Given the description of an element on the screen output the (x, y) to click on. 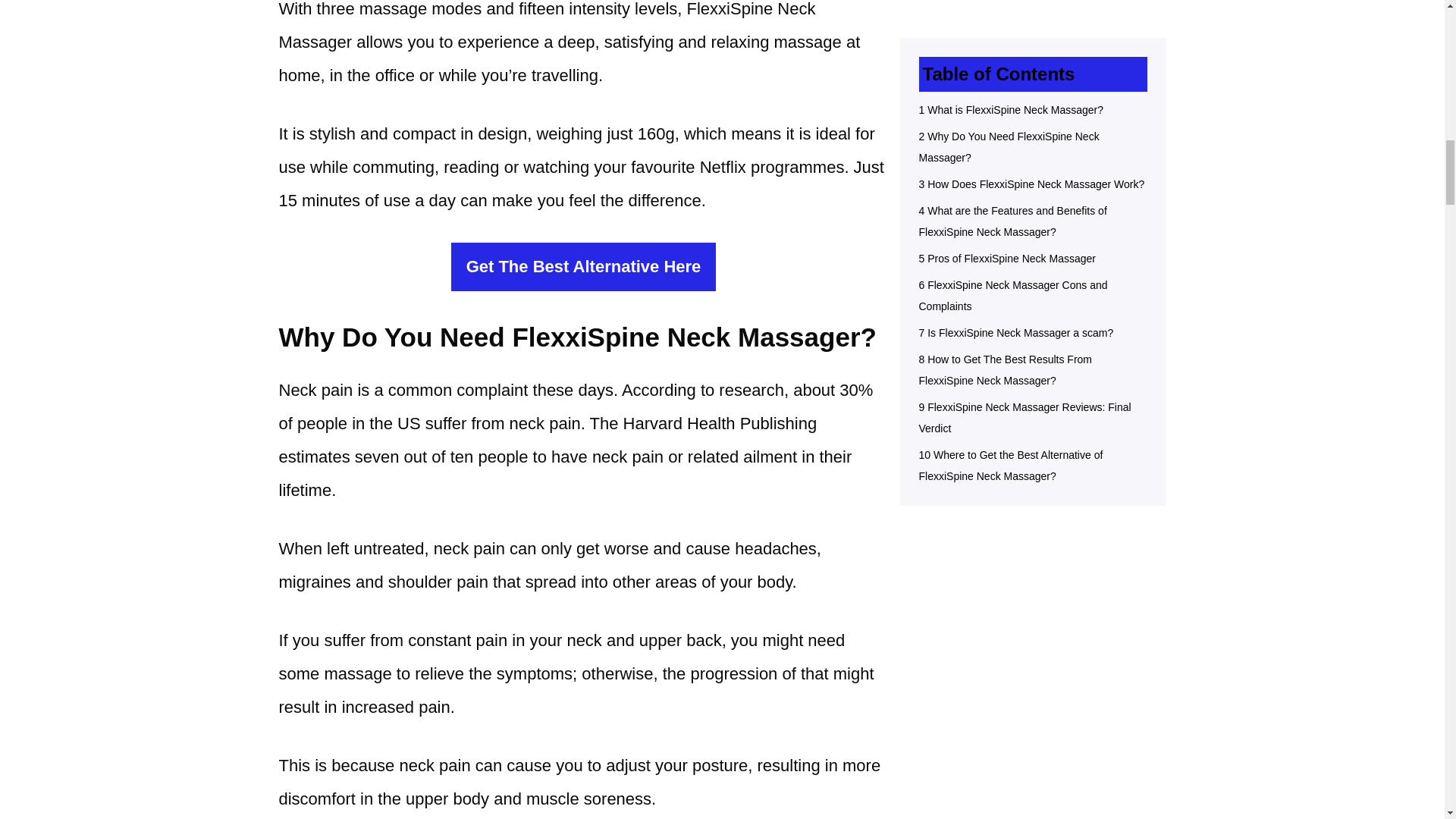
Get The Best Alternative Here (583, 266)
